Given the description of an element on the screen output the (x, y) to click on. 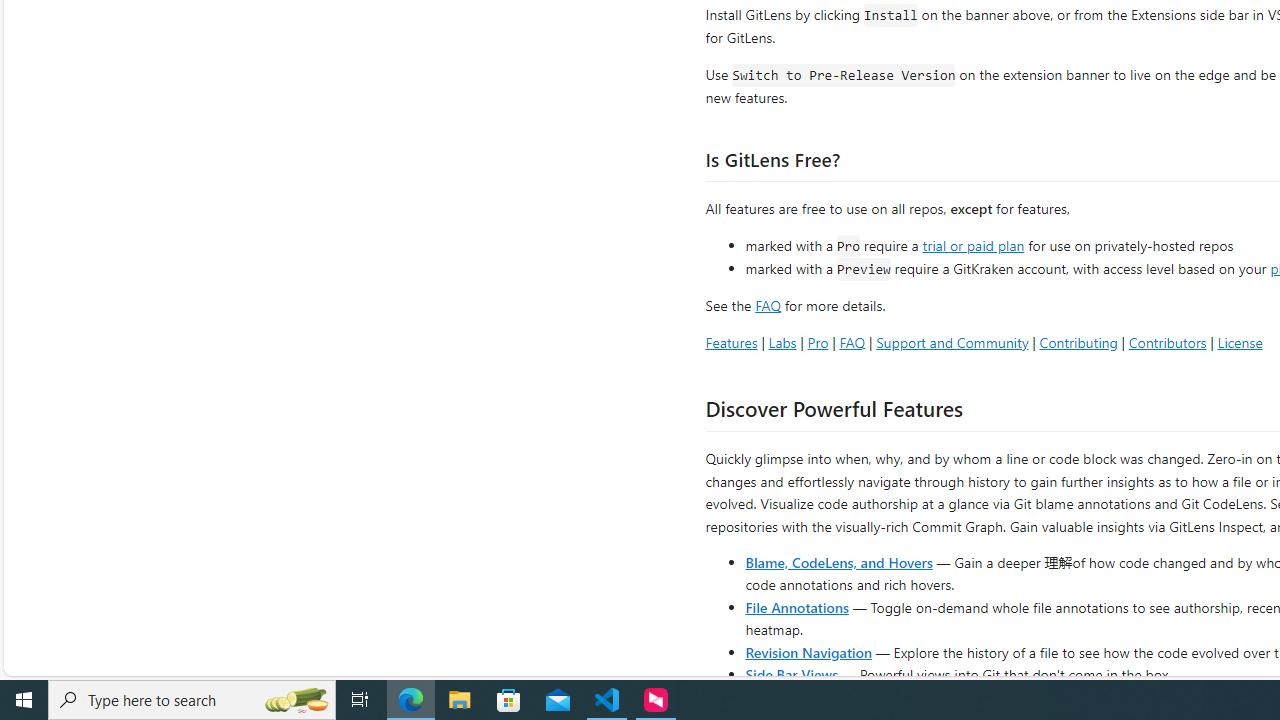
Pro (817, 341)
License (1240, 341)
Labs (782, 341)
trial or paid plan (973, 244)
FAQ (852, 341)
File Annotations (796, 606)
Support and Community (952, 341)
Contributors (1167, 341)
Blame, CodeLens, and Hovers (838, 561)
Revision Navigation (807, 651)
Contributing (1078, 341)
Features (731, 341)
Side Bar Views (791, 673)
